Given the description of an element on the screen output the (x, y) to click on. 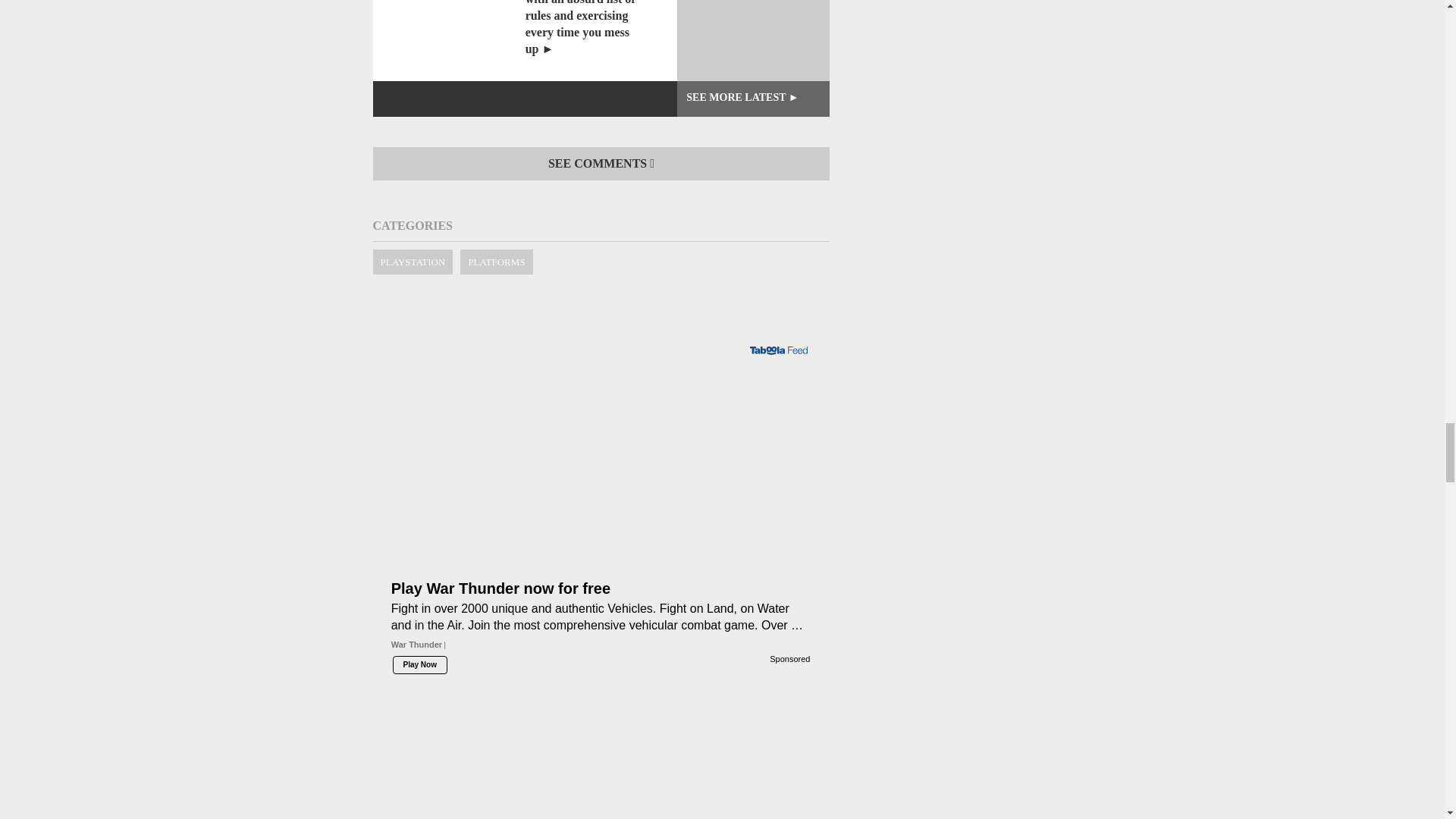
Play War Thunder now for free (600, 569)
Play War Thunder now for free (600, 417)
